Given the description of an element on the screen output the (x, y) to click on. 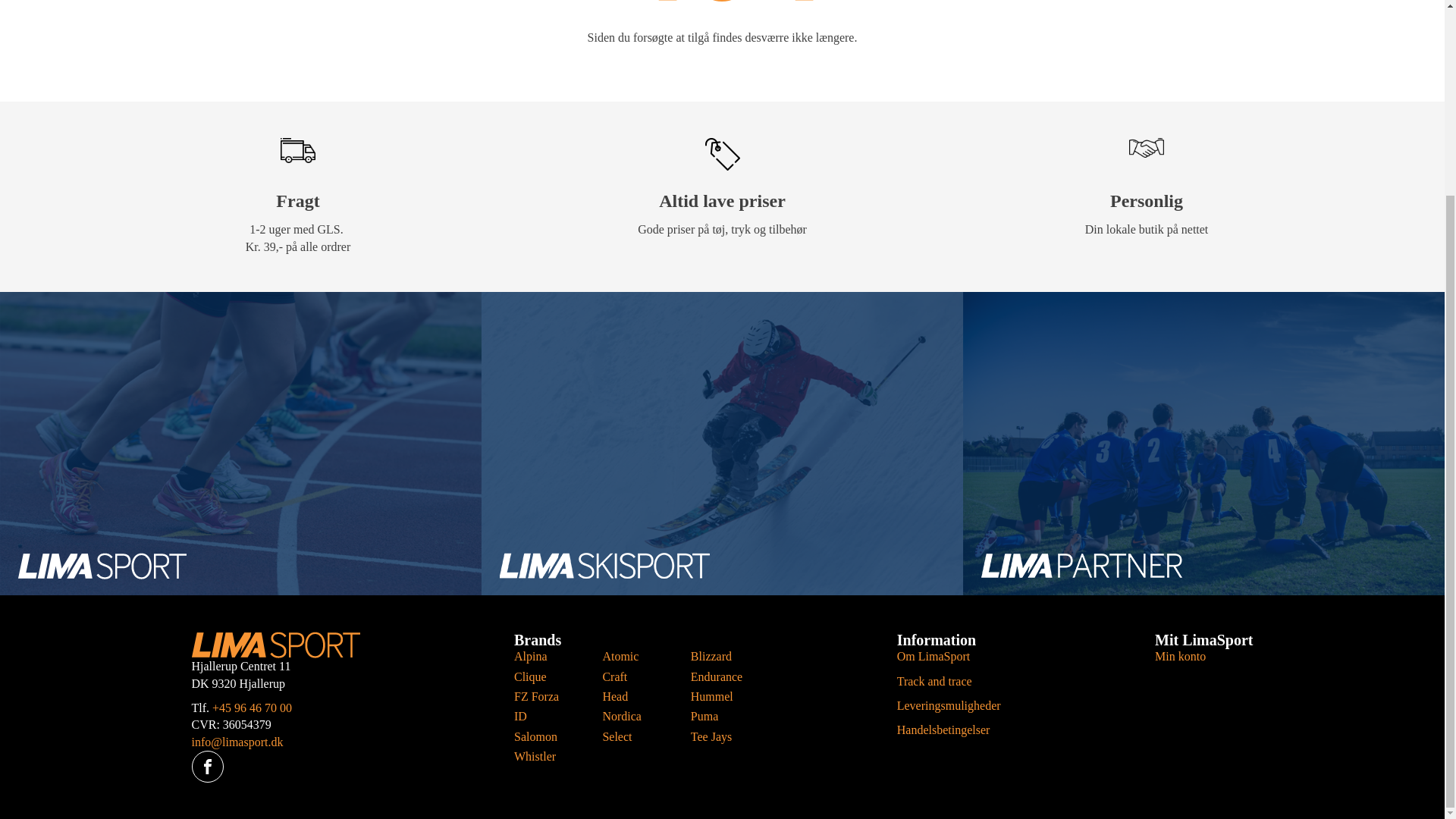
Atomic (627, 656)
Handelsbetingelser (943, 729)
Blizzard (716, 656)
Alpina (539, 656)
FZ Forza (539, 696)
Track and trace (934, 680)
Salomon (539, 736)
Min konto (1179, 656)
Endurance (716, 677)
Om LimaSport (932, 656)
